Given the description of an element on the screen output the (x, y) to click on. 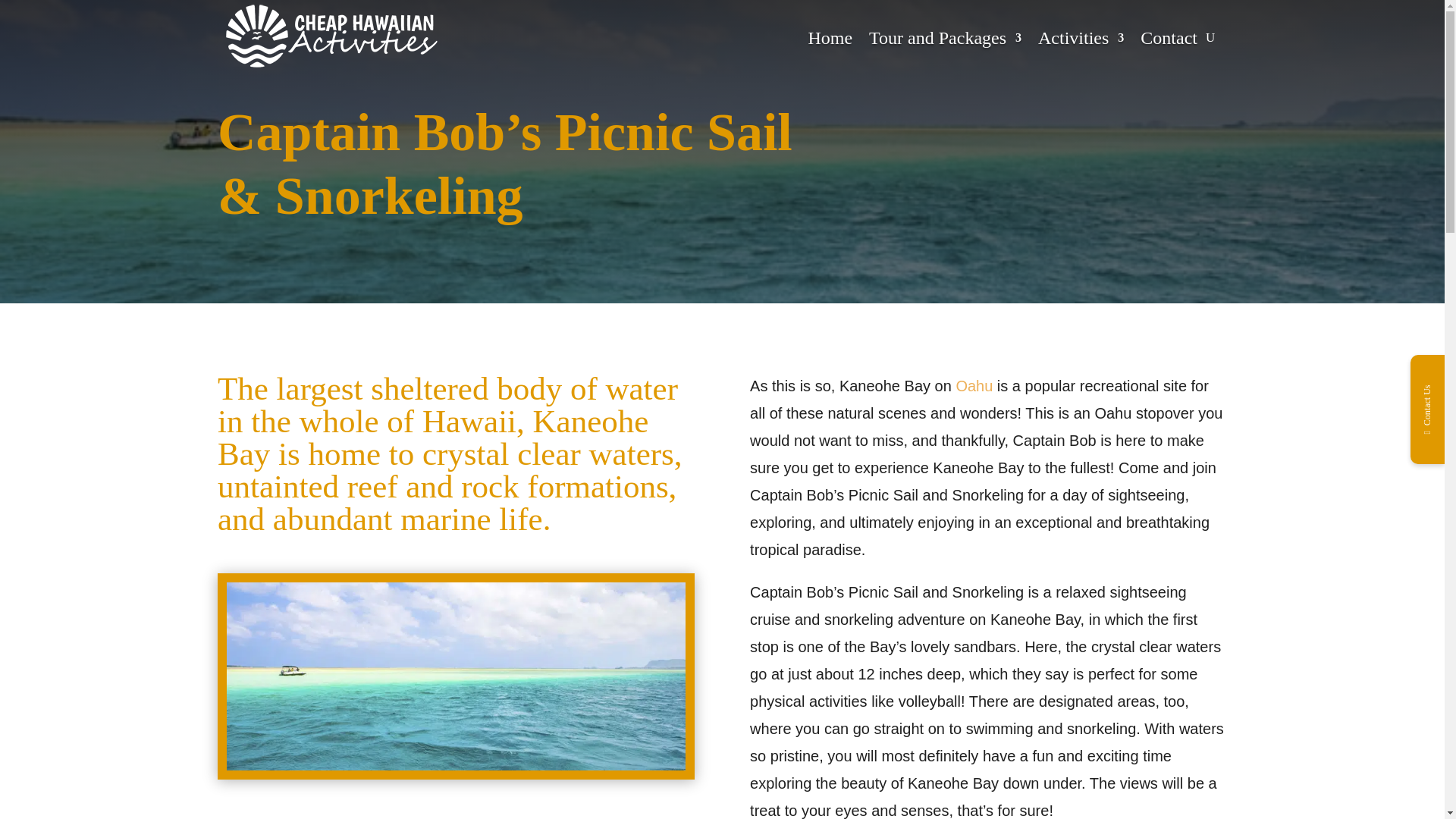
Tour and Packages (945, 38)
Activities (1081, 38)
Contact (1168, 38)
Home (829, 38)
